Given the description of an element on the screen output the (x, y) to click on. 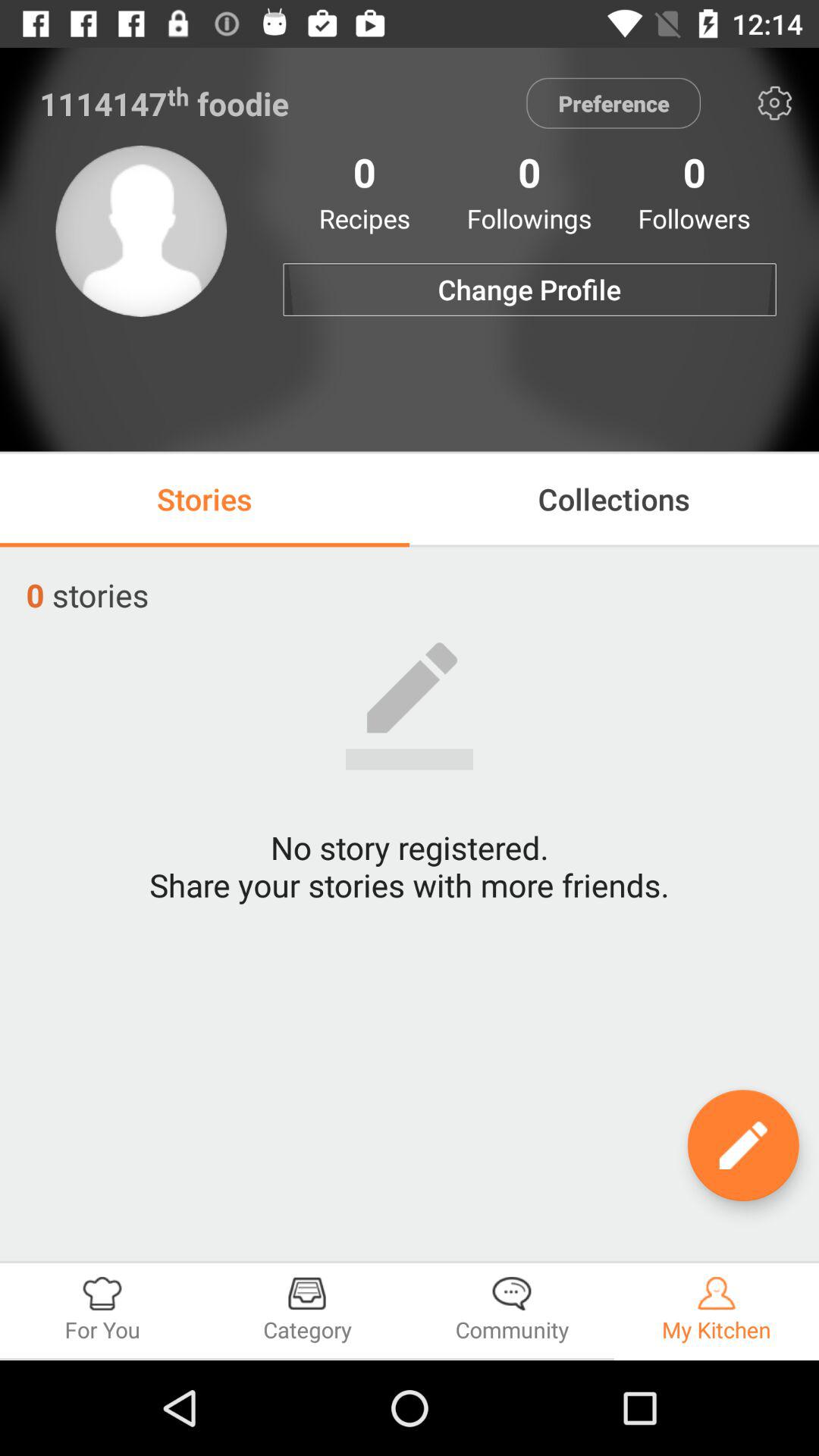
flip until the change profile (529, 289)
